Given the description of an element on the screen output the (x, y) to click on. 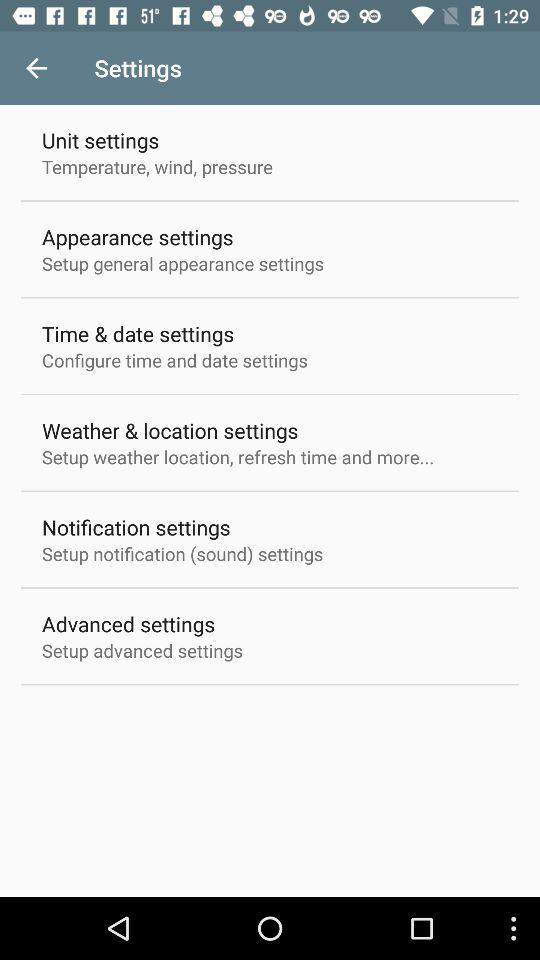
click item above the time & date settings (183, 263)
